Given the description of an element on the screen output the (x, y) to click on. 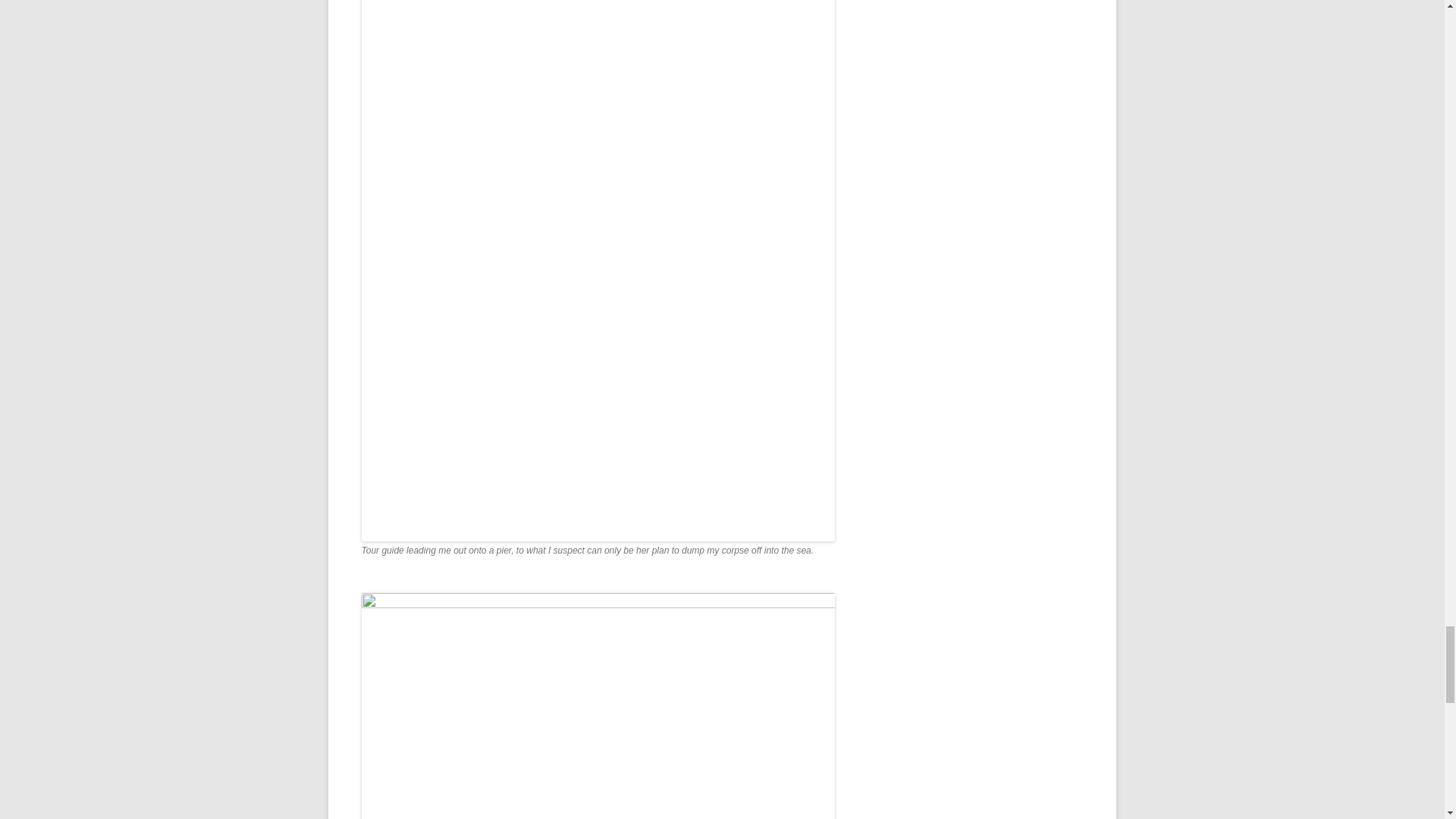
2011-02-03 16.31.52 (597, 705)
